Given the description of an element on the screen output the (x, y) to click on. 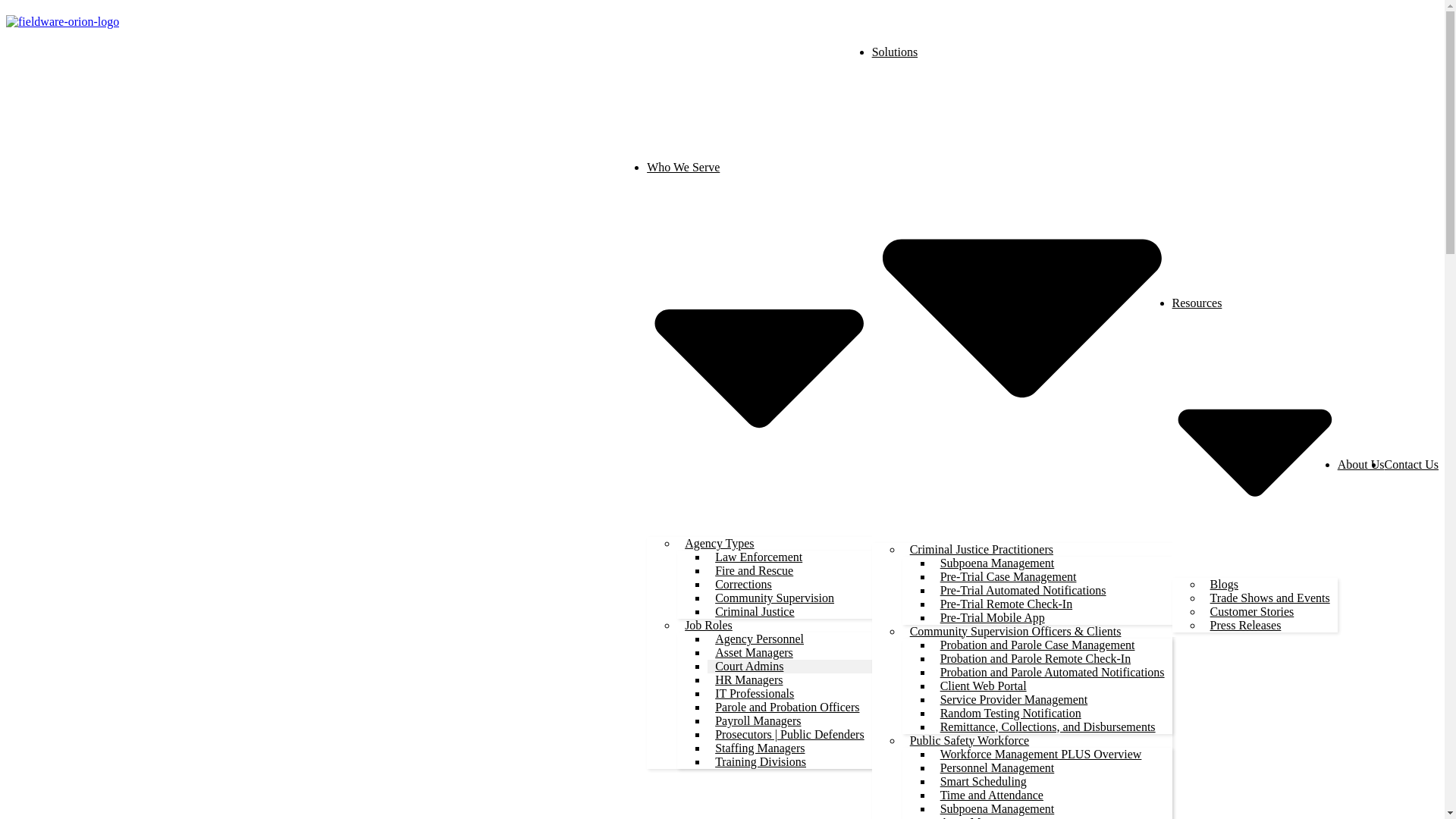
Criminal Justice Practitioners (981, 549)
Payroll Managers (757, 720)
Parole and Probation Officers (786, 706)
Asset Managers (753, 652)
IT Professionals (754, 693)
Probation and Parole Case Management (1037, 644)
Criminal Justice (754, 611)
Pre-Trial Mobile App (992, 617)
Community Supervision (774, 597)
Agency Personnel (758, 638)
Court Admins (748, 665)
Smart Scheduling (983, 781)
Fire and Rescue (753, 570)
Probation and Parole Remote Check-In (1035, 658)
Random Testing Notification (1011, 713)
